Given the description of an element on the screen output the (x, y) to click on. 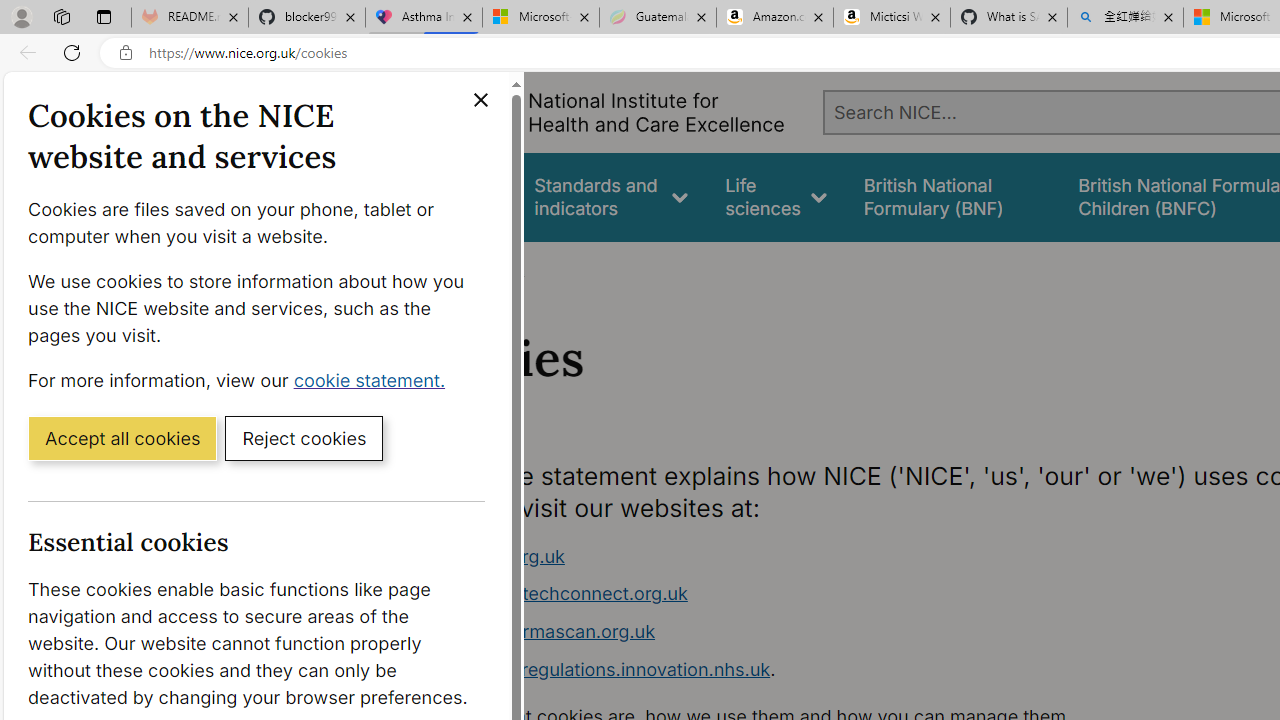
www.healthtechconnect.org.uk (796, 594)
www.ukpharmascan.org.uk (796, 632)
Close cookie banner (480, 99)
www.nice.org.uk (796, 556)
